Given the description of an element on the screen output the (x, y) to click on. 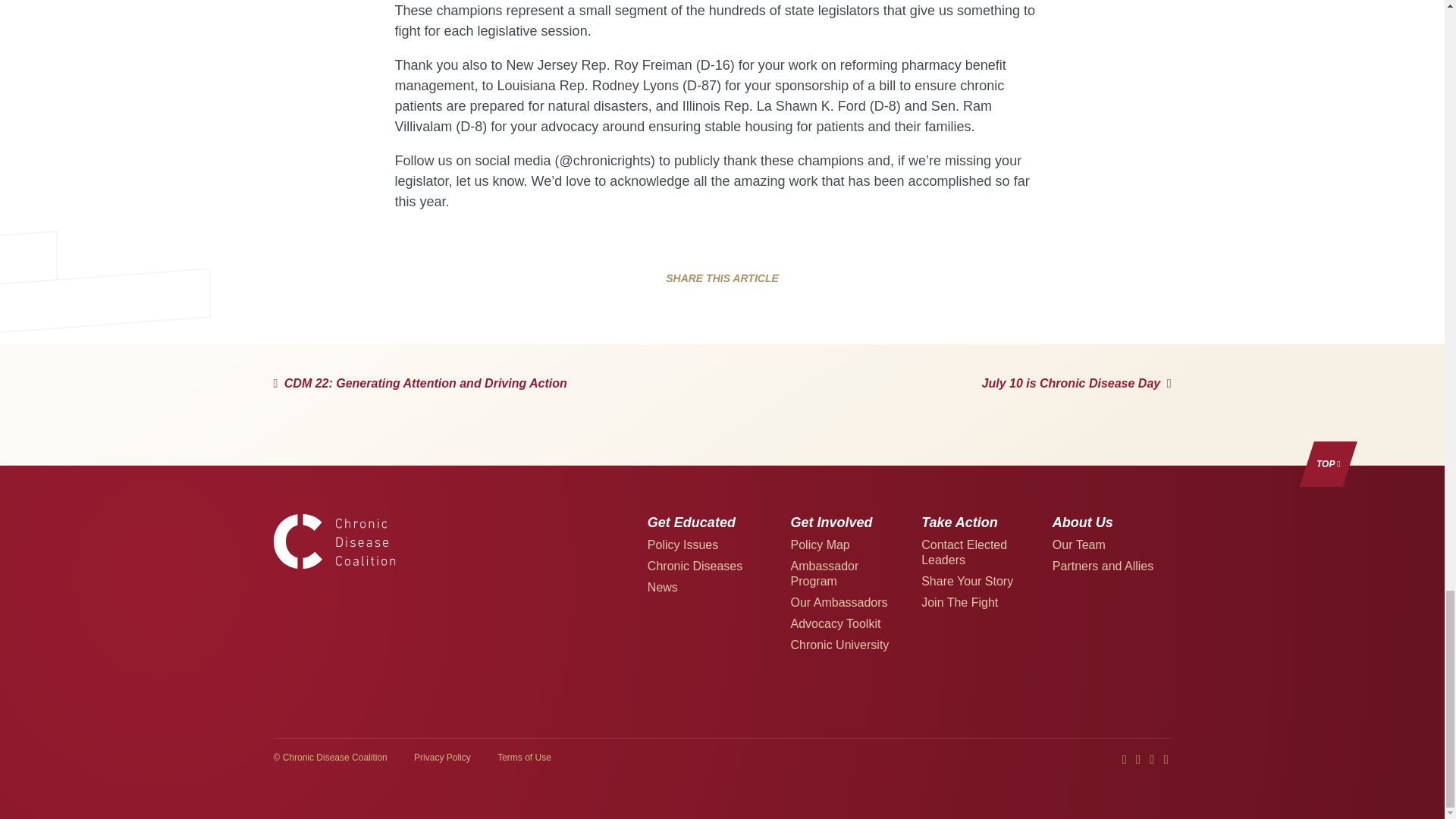
Policy Issues (682, 544)
CDM 22: Generating Attention and Driving Action (419, 383)
Chronic Diseases (694, 565)
Get Educated (691, 522)
July 10 is Chronic Disease Day (1076, 383)
